Given the description of an element on the screen output the (x, y) to click on. 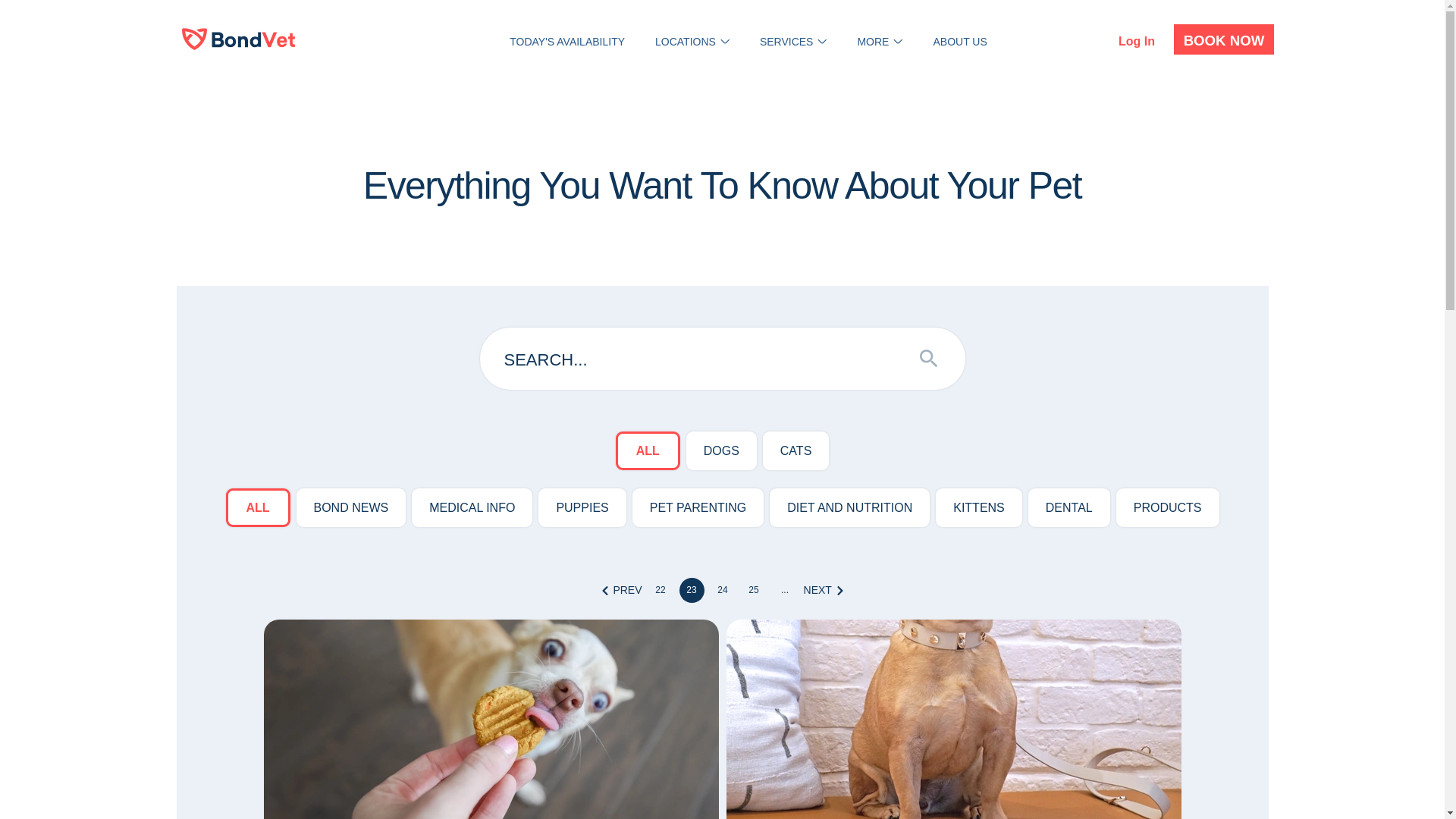
BOOK NOW (1223, 39)
TODAY'S AVAILABILITY (566, 41)
MORE (872, 41)
ABOUT US (960, 41)
ALL (647, 450)
SERVICES (786, 41)
Log In (1136, 40)
LOCATIONS (685, 41)
